Given the description of an element on the screen output the (x, y) to click on. 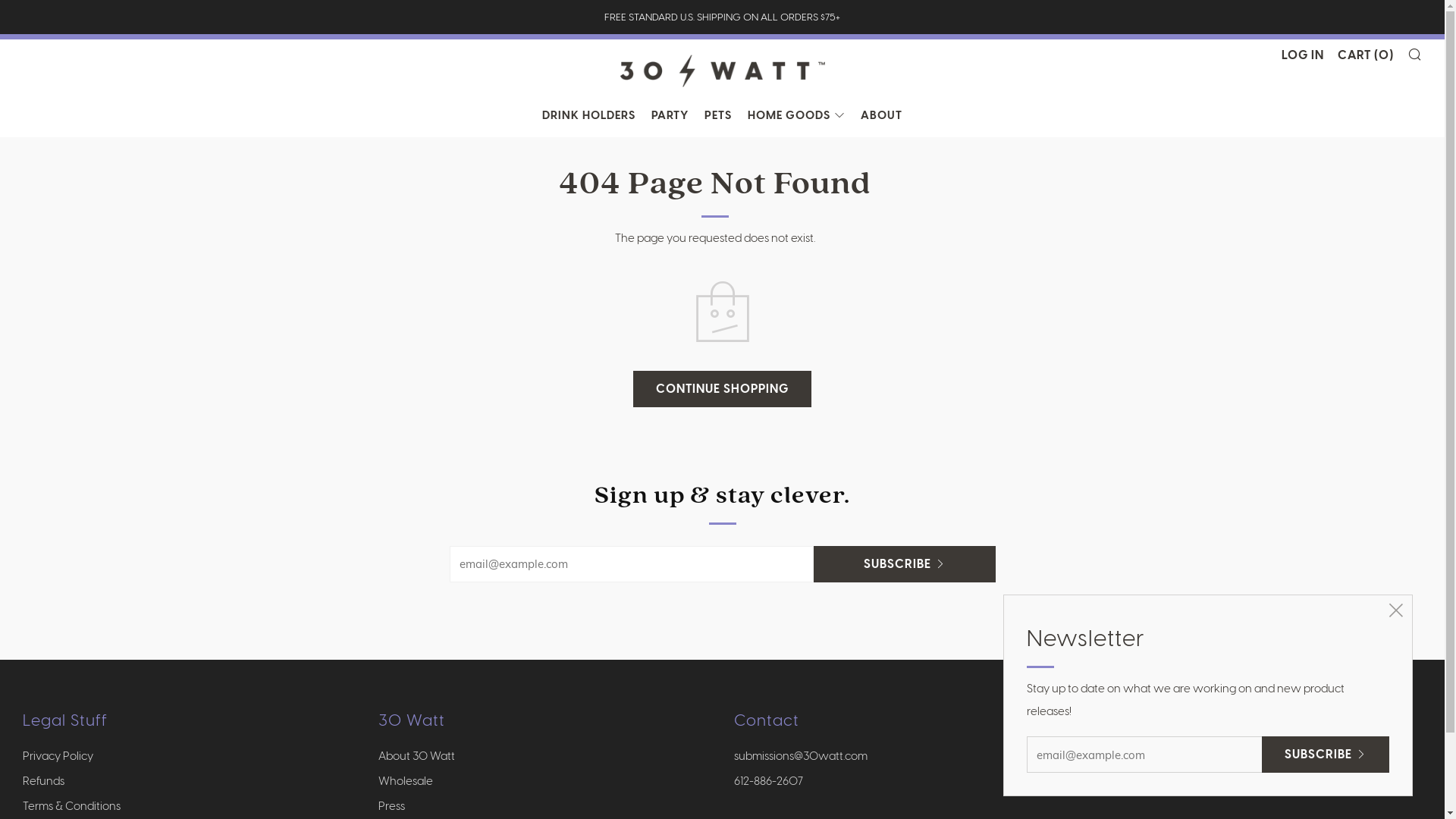
SEARCH Element type: text (1414, 53)
PETS Element type: text (717, 115)
Terms & Conditions Element type: text (71, 805)
LOG IN Element type: text (1302, 55)
Close (esc) Element type: text (1396, 611)
CONTINUE SHOPPING Element type: text (722, 388)
CART (0) Element type: text (1365, 55)
DRINK HOLDERS Element type: text (588, 115)
Privacy Policy Element type: text (57, 755)
Refunds Element type: text (43, 780)
Press Element type: text (391, 805)
HOME GOODS Element type: text (795, 115)
PARTY Element type: text (669, 115)
Wholesale Element type: text (405, 780)
submissions@30watt.com Element type: text (800, 755)
SUBSCRIBE Element type: text (1325, 754)
SUBSCRIBE Element type: text (903, 564)
ABOUT Element type: text (881, 115)
Facebook Element type: text (1102, 760)
Instagram Element type: text (1138, 760)
612-886-2607 Element type: text (768, 780)
About 30 Watt Element type: text (416, 755)
